Given the description of an element on the screen output the (x, y) to click on. 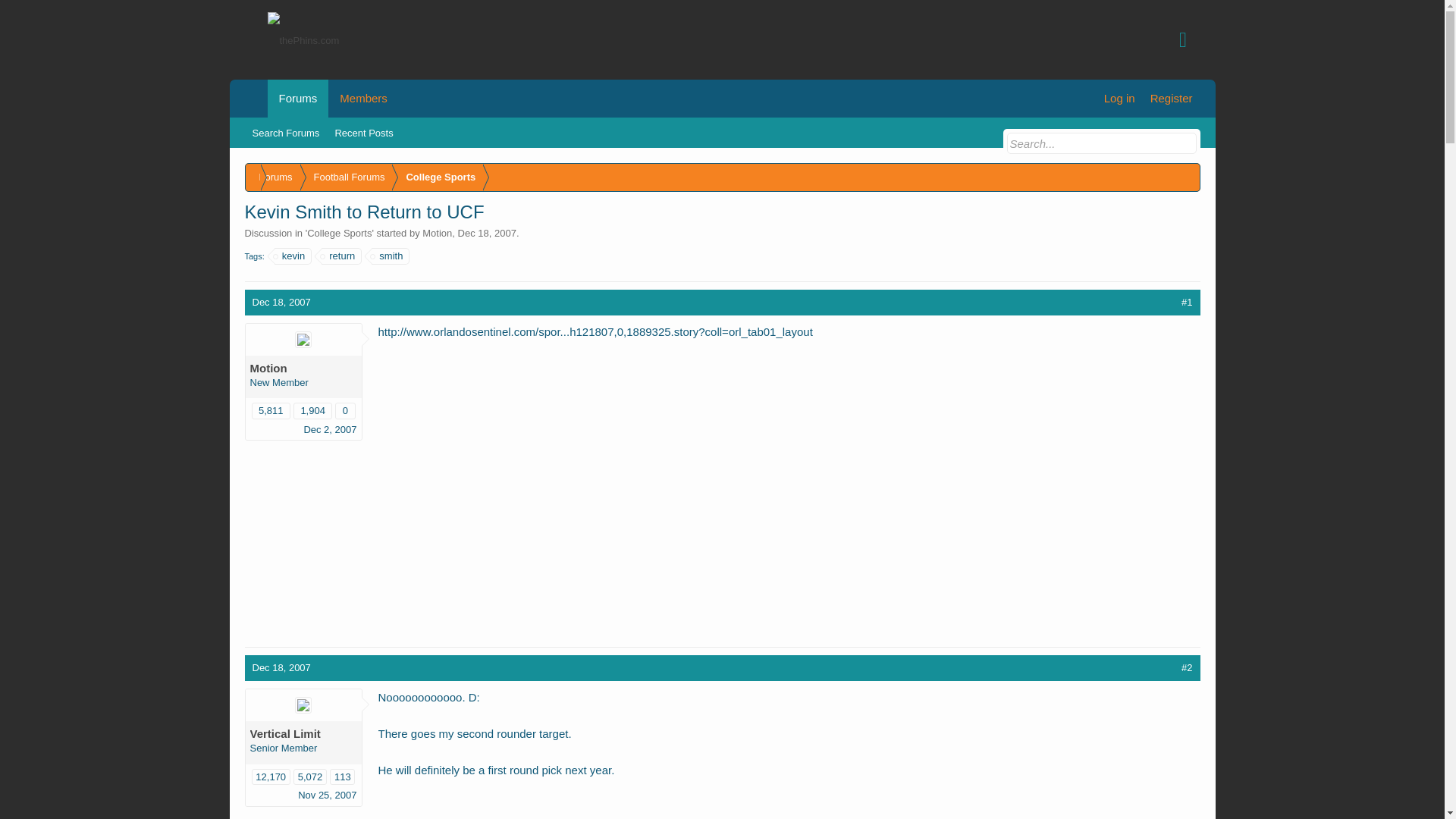
College Sports (339, 233)
Log in (1119, 98)
Permalink (280, 301)
Motion (436, 233)
Members (363, 98)
Forums (297, 98)
Forums (272, 177)
Permalink (1186, 301)
Register (1170, 98)
return (341, 256)
Dec 18, 2007 at 2:06 PM (487, 233)
Recent Posts (363, 133)
kevin (293, 256)
Dec 18, 2007 (487, 233)
Search Forums (285, 133)
